Given the description of an element on the screen output the (x, y) to click on. 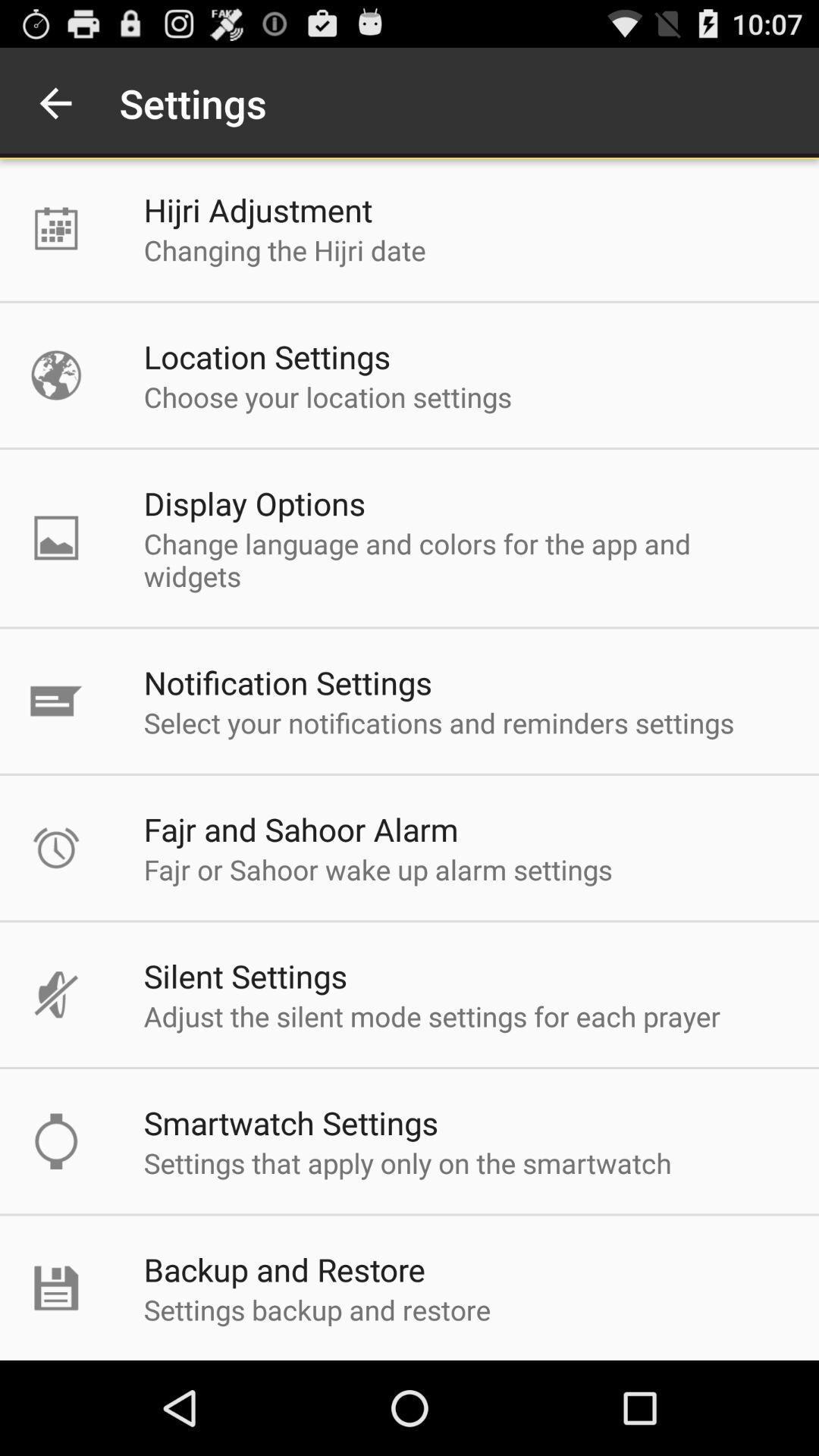
scroll until the hijri adjustment item (257, 209)
